Given the description of an element on the screen output the (x, y) to click on. 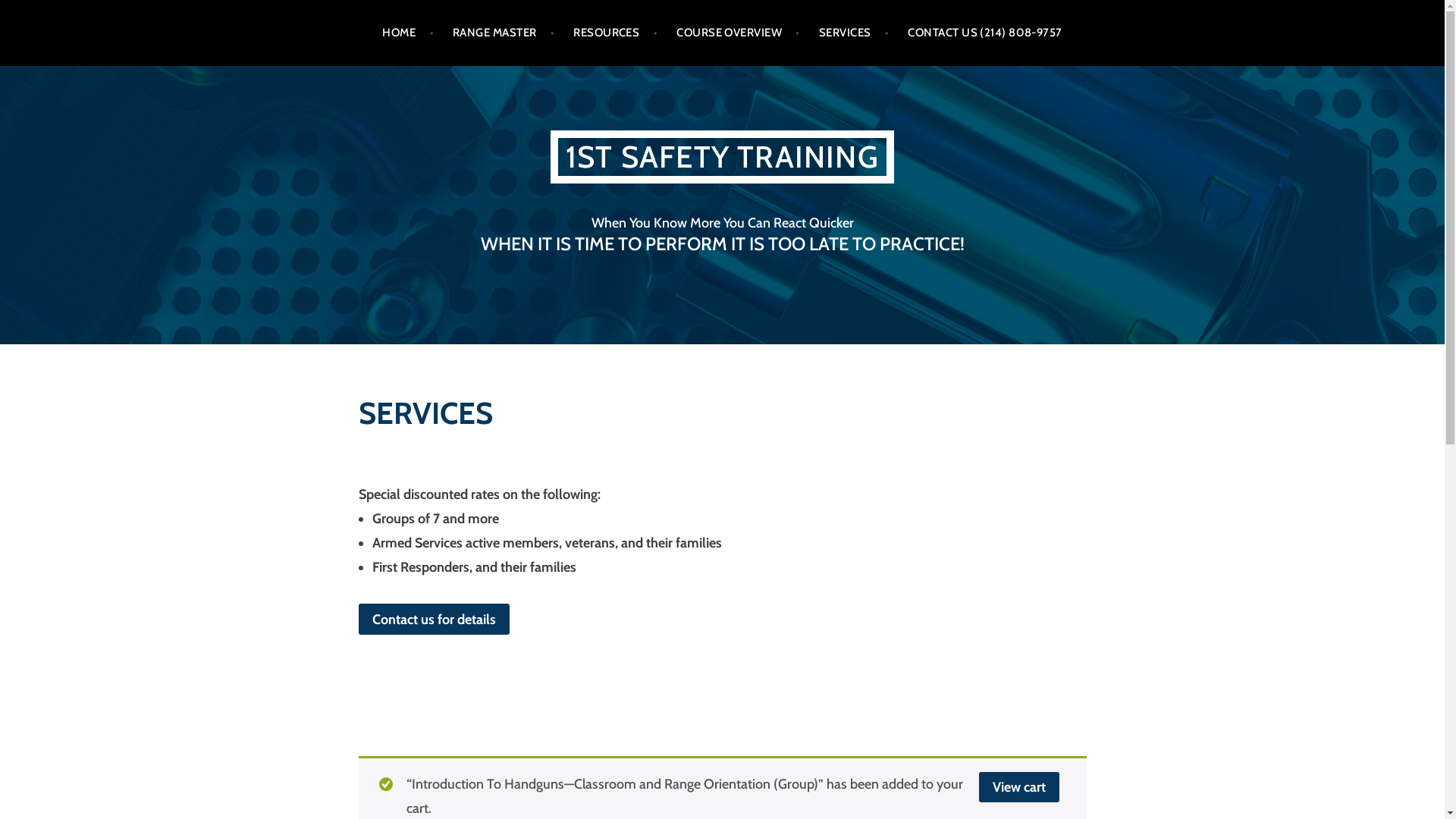
RESOURCES Element type: text (615, 32)
View cart Element type: text (1018, 786)
COURSE OVERVIEW Element type: text (738, 32)
Contact us for details Element type: text (432, 618)
RANGE MASTER Element type: text (503, 32)
HOME Element type: text (407, 32)
SERVICES Element type: text (854, 32)
CONTACT US (214) 808-9757 Element type: text (984, 32)
1ST SAFETY TRAINING Element type: text (722, 156)
